Given the description of an element on the screen output the (x, y) to click on. 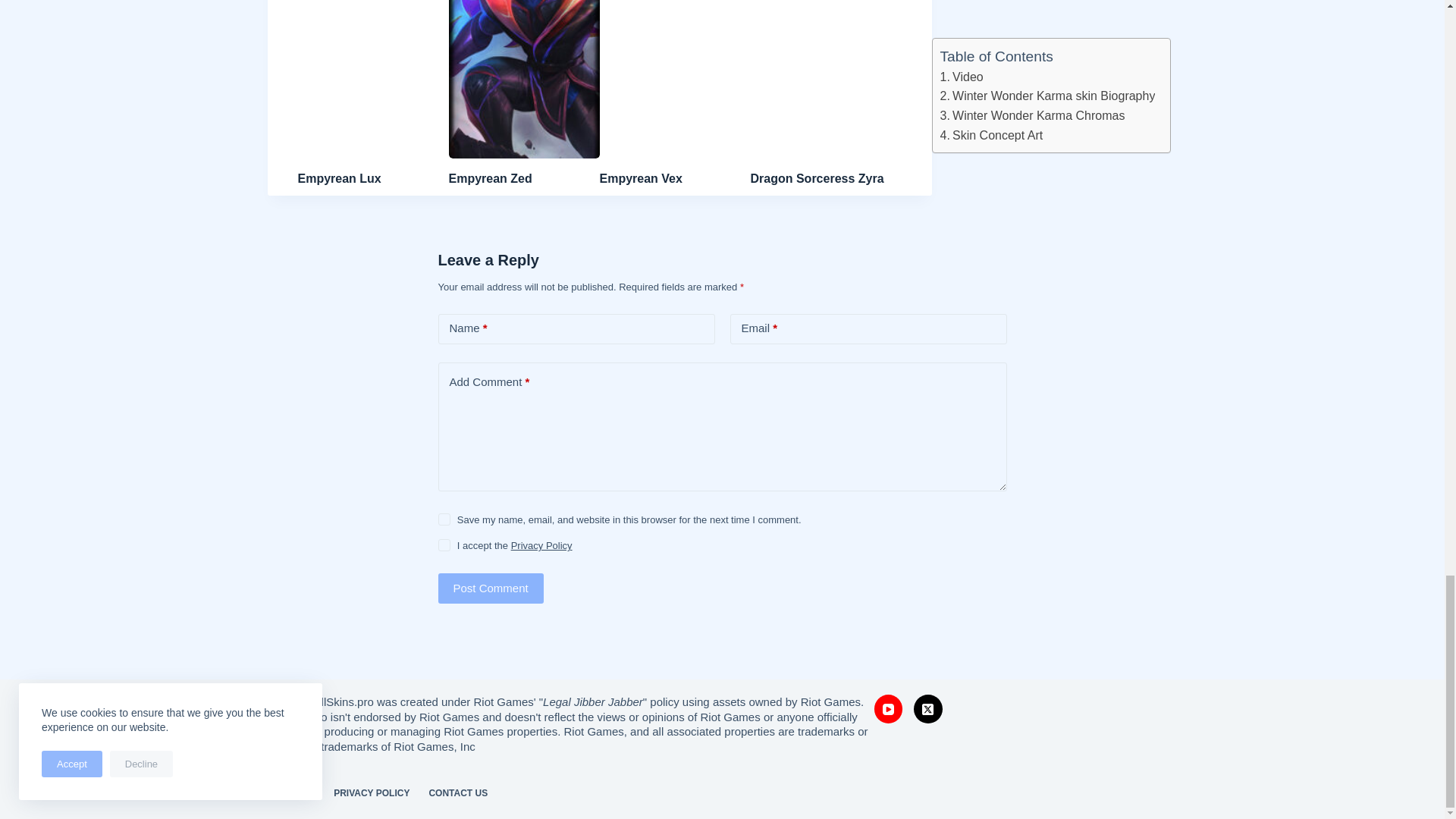
Dragon Sorceress Zyra (817, 178)
Empyrean Lux (338, 178)
yes (443, 519)
Empyrean Vex (639, 178)
on (443, 544)
Empyrean Zed (490, 178)
